Given the description of an element on the screen output the (x, y) to click on. 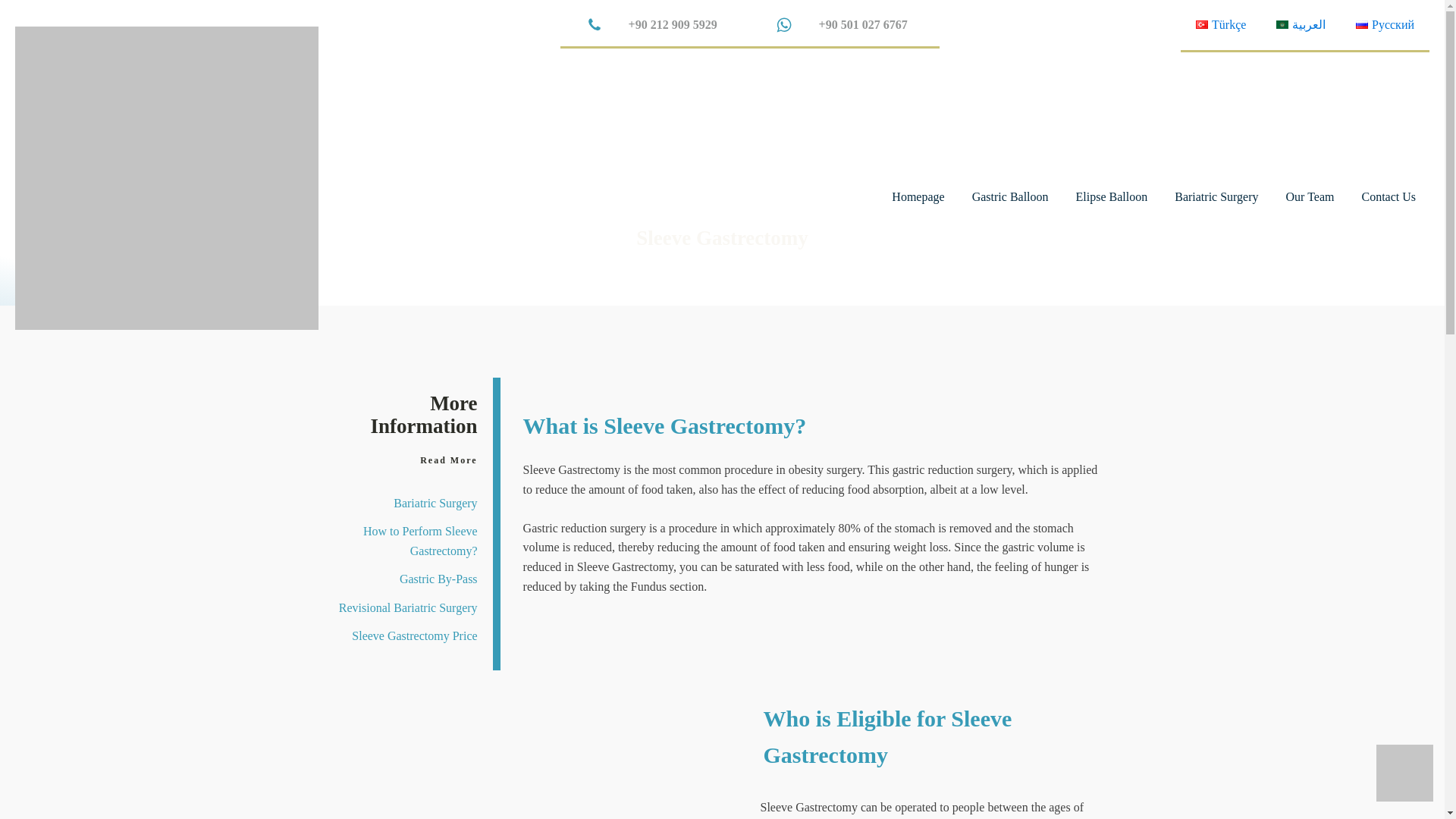
Our Team (1310, 196)
Bariatric Surgery (1215, 196)
Sleeve Gastrectomy Price (414, 640)
Revisional Bariatric Surgery (408, 608)
Elipse Balloon (1111, 196)
Homepage (917, 196)
Gastric By-Pass (437, 578)
Contact Us (1388, 196)
Bariatric Surgery (435, 502)
How to Perform Sleeve Gastrectomy? (402, 545)
Gastric Balloon (1010, 196)
